Given the description of an element on the screen output the (x, y) to click on. 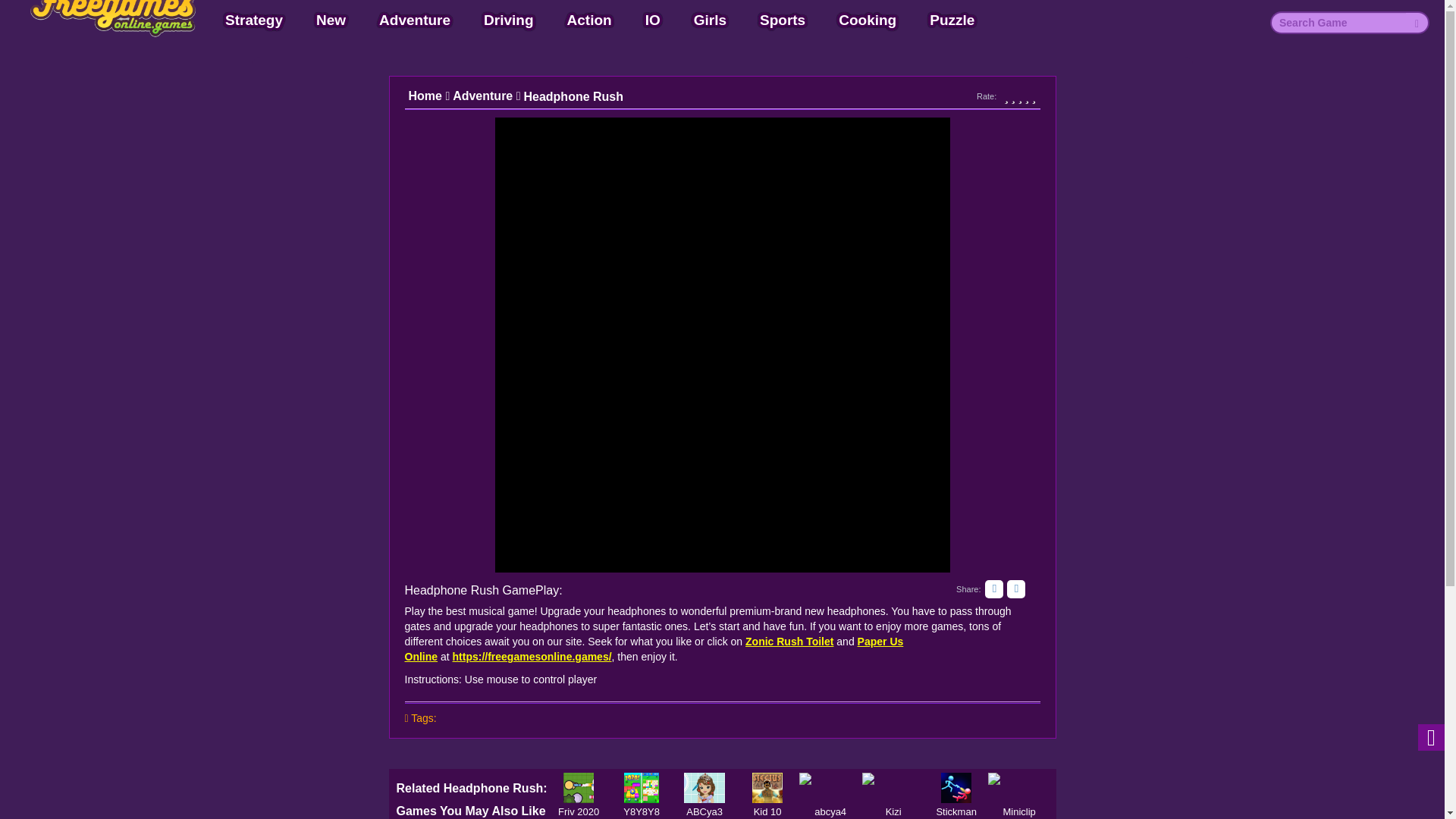
Paper Us Online (654, 648)
Kid 10 (767, 788)
Cooking (866, 20)
Sports (782, 20)
ABCya3 (704, 788)
Cooking (866, 20)
ABCya3 (704, 788)
Stickman (956, 788)
Zonic Rush Toilet (788, 641)
Stickman (956, 788)
